Given the description of an element on the screen output the (x, y) to click on. 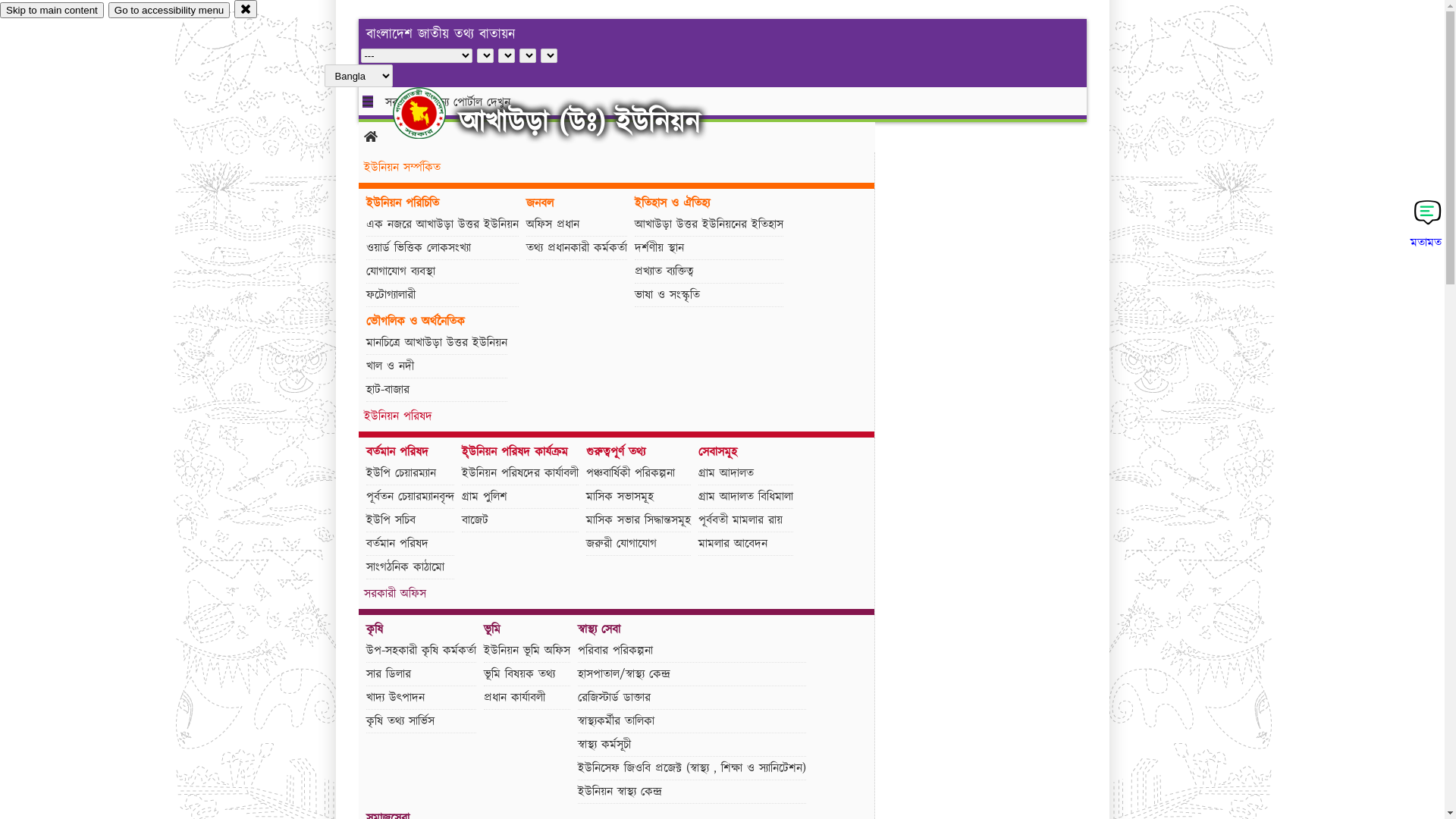

                
             Element type: hover (431, 112)
Go to accessibility menu Element type: text (168, 10)
close Element type: hover (245, 9)
Skip to main content Element type: text (51, 10)
